Given the description of an element on the screen output the (x, y) to click on. 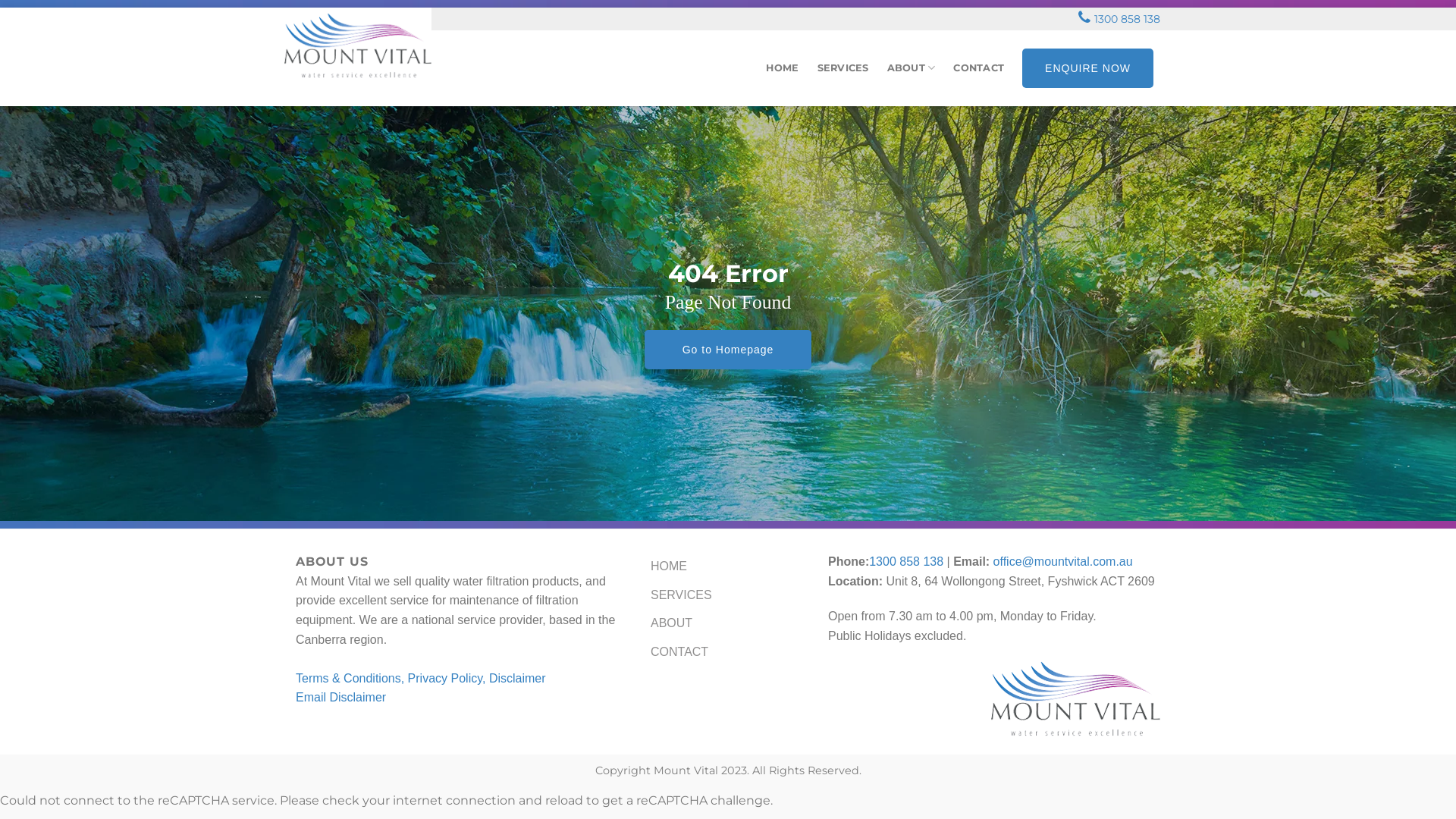
SERVICES Element type: text (843, 68)
ABOUT Element type: text (671, 622)
SERVICES Element type: text (681, 594)
ABOUT Element type: text (911, 68)
office@mountvital.com.au Element type: text (1062, 561)
Email Disclaimer Element type: text (340, 696)
Terms & Conditions, Privacy Policy, Disclaimer Element type: text (420, 677)
1300 858 138 Element type: text (906, 561)
HOME Element type: text (781, 68)
1300 858 138 Element type: text (1127, 18)
Go to Homepage Element type: text (728, 349)
CONTACT Element type: text (679, 651)
HOME Element type: text (668, 566)
Mount Vital Pty Ltd Element type: hover (370, 45)
CONTACT Element type: text (978, 68)
ENQUIRE NOW Element type: text (1087, 67)
